Given the description of an element on the screen output the (x, y) to click on. 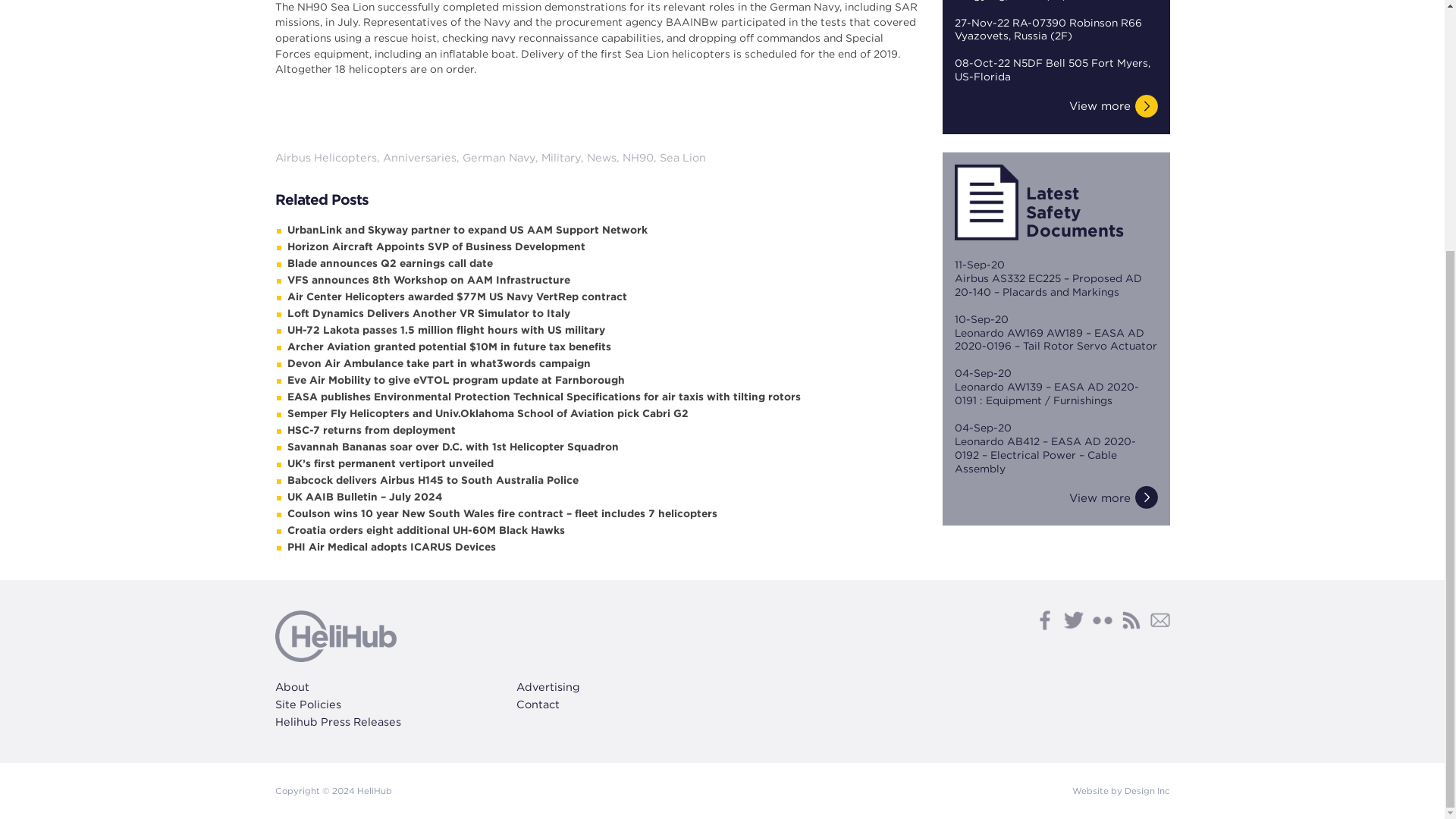
RSS (1130, 619)
Helihub (335, 635)
Facebook (1043, 619)
Twitter (1072, 619)
Flickr (1102, 619)
Subscribe (1159, 619)
